Given the description of an element on the screen output the (x, y) to click on. 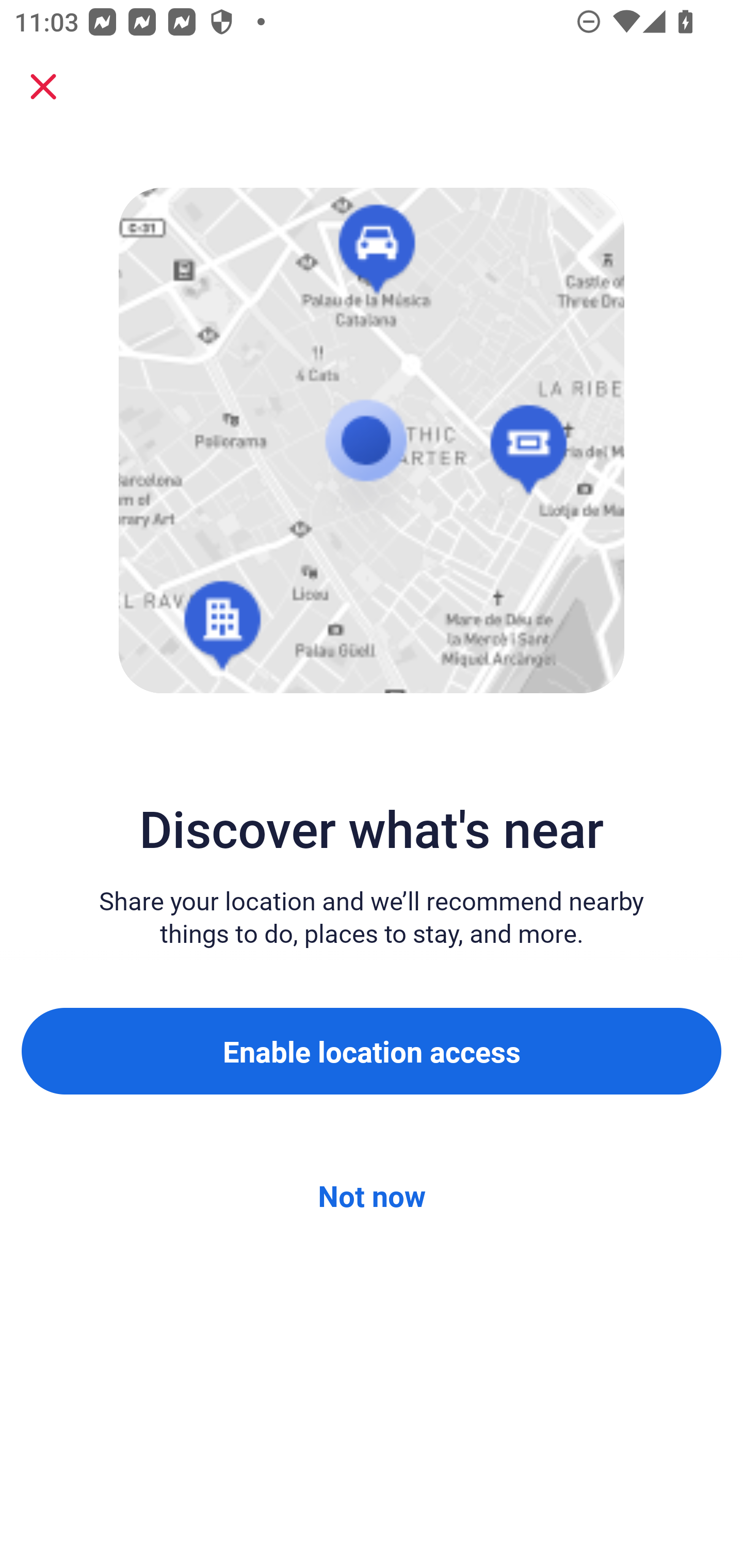
Close sheet (43, 86)
Enable location access (371, 1051)
Not now (371, 1195)
